Given the description of an element on the screen output the (x, y) to click on. 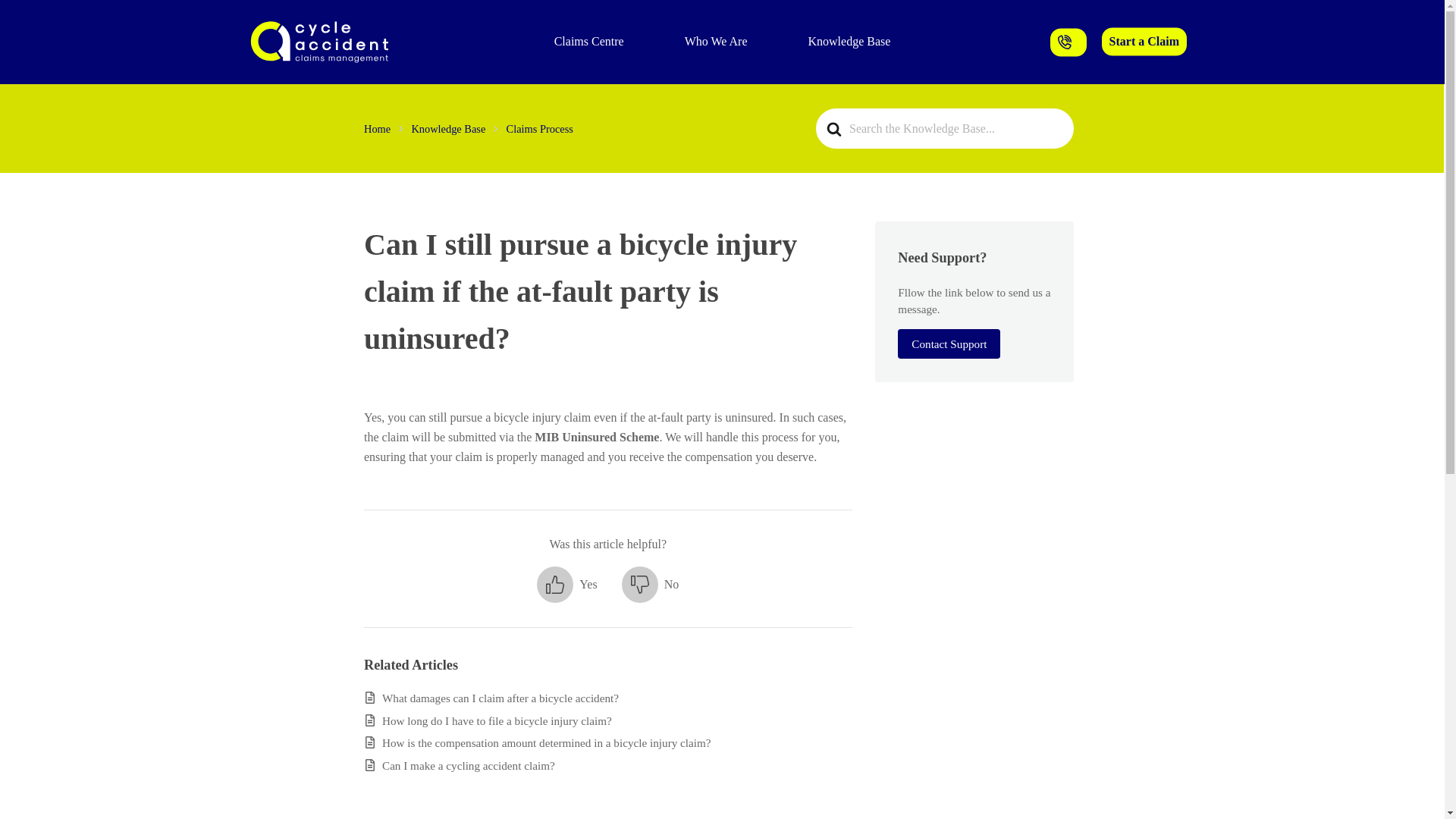
Claims Centre (589, 41)
Claims Process (539, 128)
Home (377, 128)
Start a Claim (1144, 41)
No (650, 584)
Knowledge Base (447, 128)
Yes (566, 584)
Can I make a cycling accident claim? (467, 765)
Who We Are (716, 41)
